Given the description of an element on the screen output the (x, y) to click on. 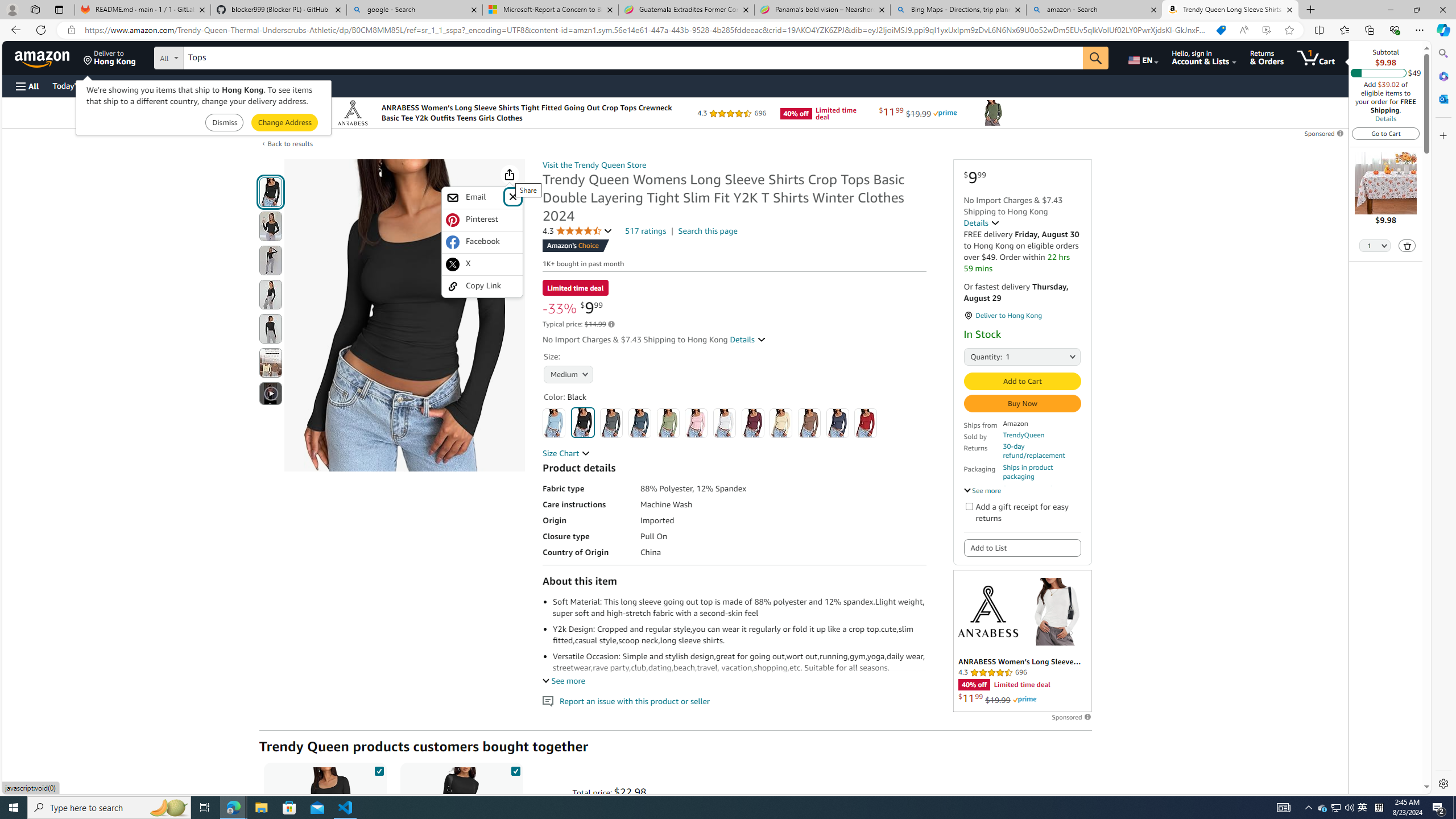
Logo (987, 611)
Email (474, 197)
You have the best price! (1220, 29)
4.3 4.3 out of 5 stars (577, 230)
Haze Blue (639, 422)
30-day refund/replacement (1042, 451)
Light Green (667, 422)
Baby Blue (553, 422)
Go to Cart (1385, 133)
Navy (837, 422)
Enhance video (1266, 29)
